Given the description of an element on the screen output the (x, y) to click on. 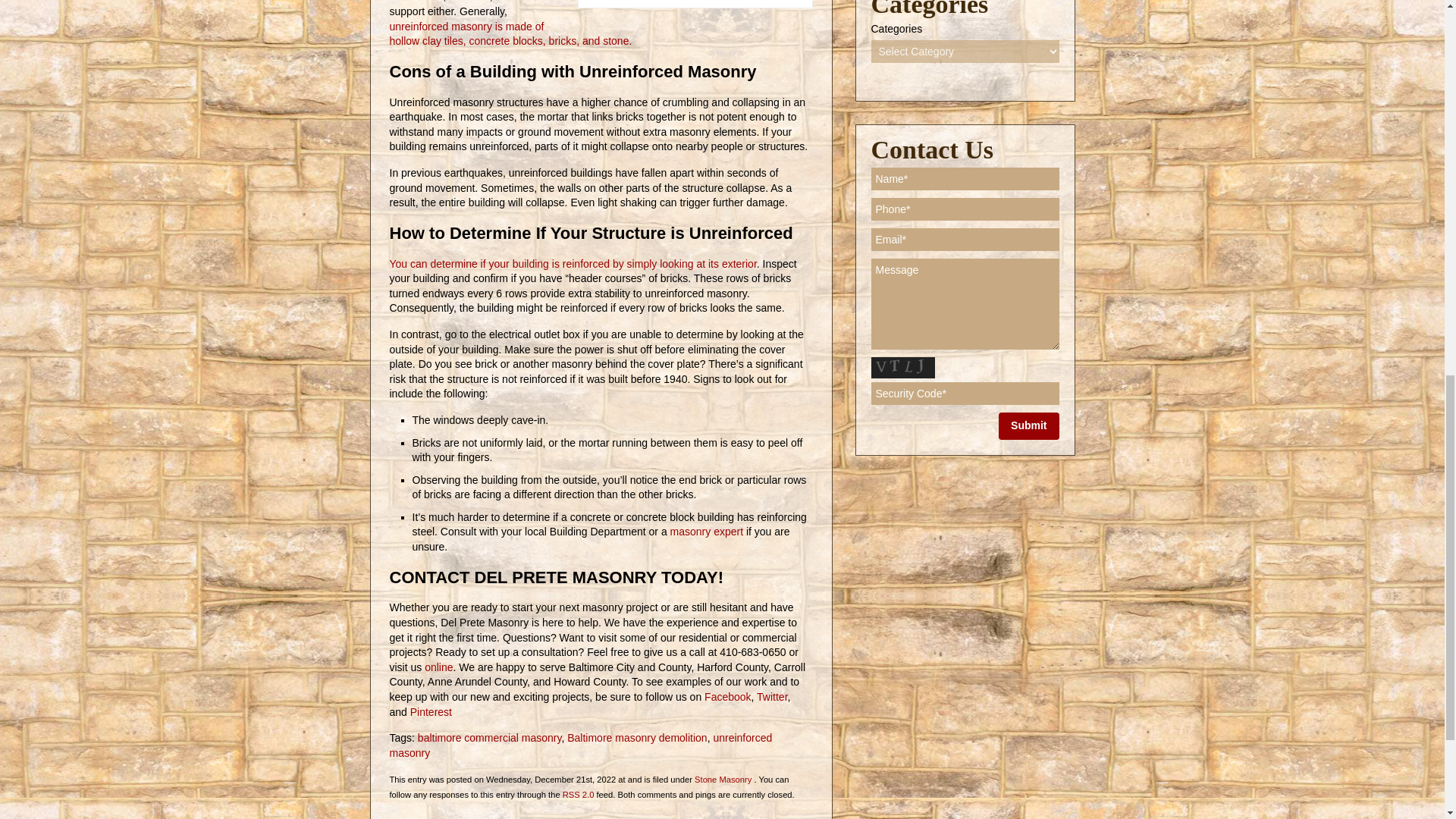
Submit (1028, 425)
Stone Masonry (722, 778)
 Pinterest (429, 711)
 online (437, 666)
 Twitter (770, 696)
RSS 2.0 (578, 794)
masonry expert (705, 531)
Baltimore masonry demolition (636, 737)
 Facebook (726, 696)
baltimore commercial masonry (489, 737)
Submit (1028, 425)
unreinforced masonry (581, 745)
